Given the description of an element on the screen output the (x, y) to click on. 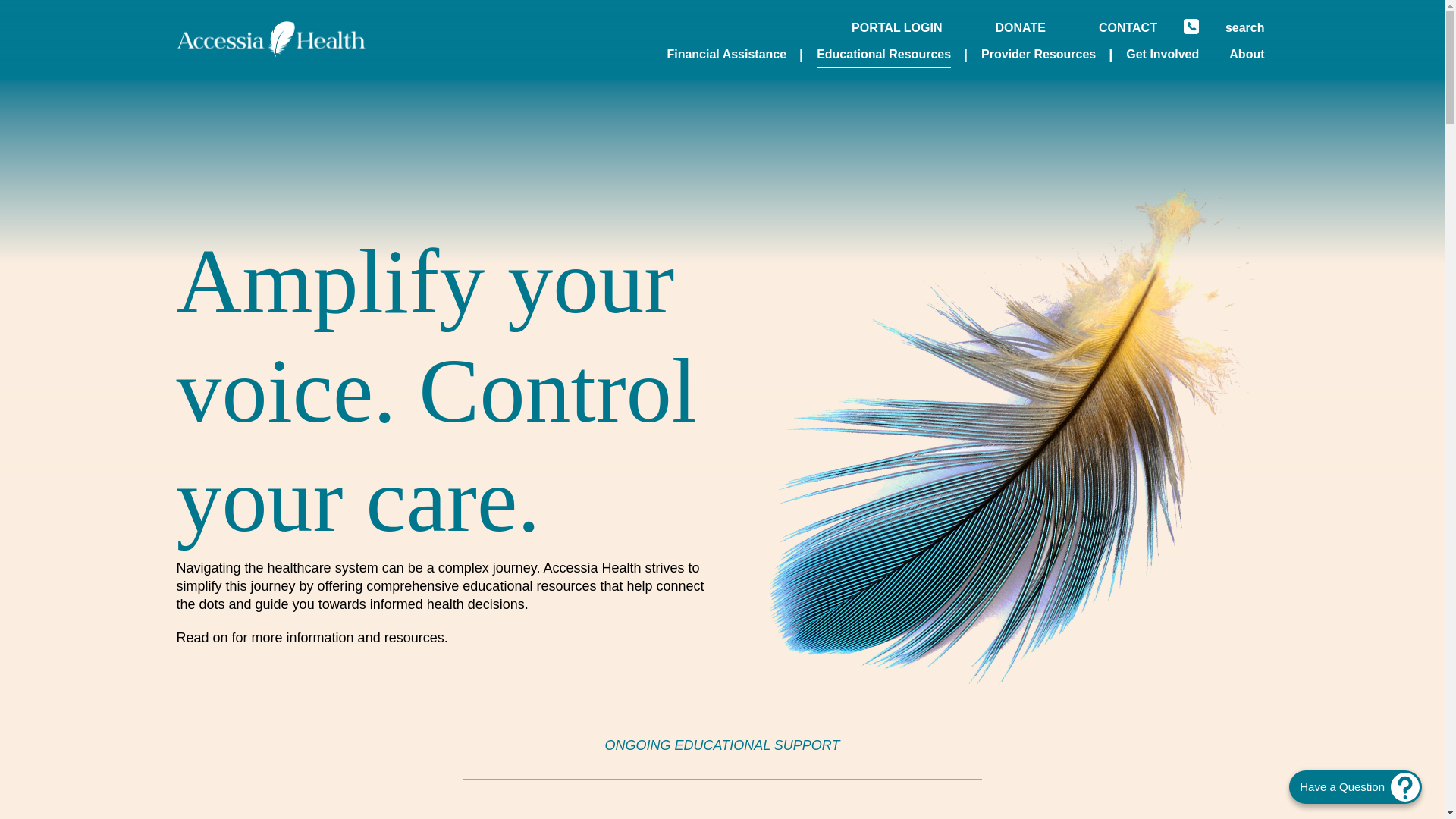
About (1245, 54)
Get Involved (1161, 54)
search (1245, 28)
Provider Resources (1038, 54)
CONTACT (1128, 28)
DONATE (1019, 28)
PORTAL LOGIN (896, 28)
Educational Resources (883, 54)
Financial Assistance (726, 54)
